Given the description of an element on the screen output the (x, y) to click on. 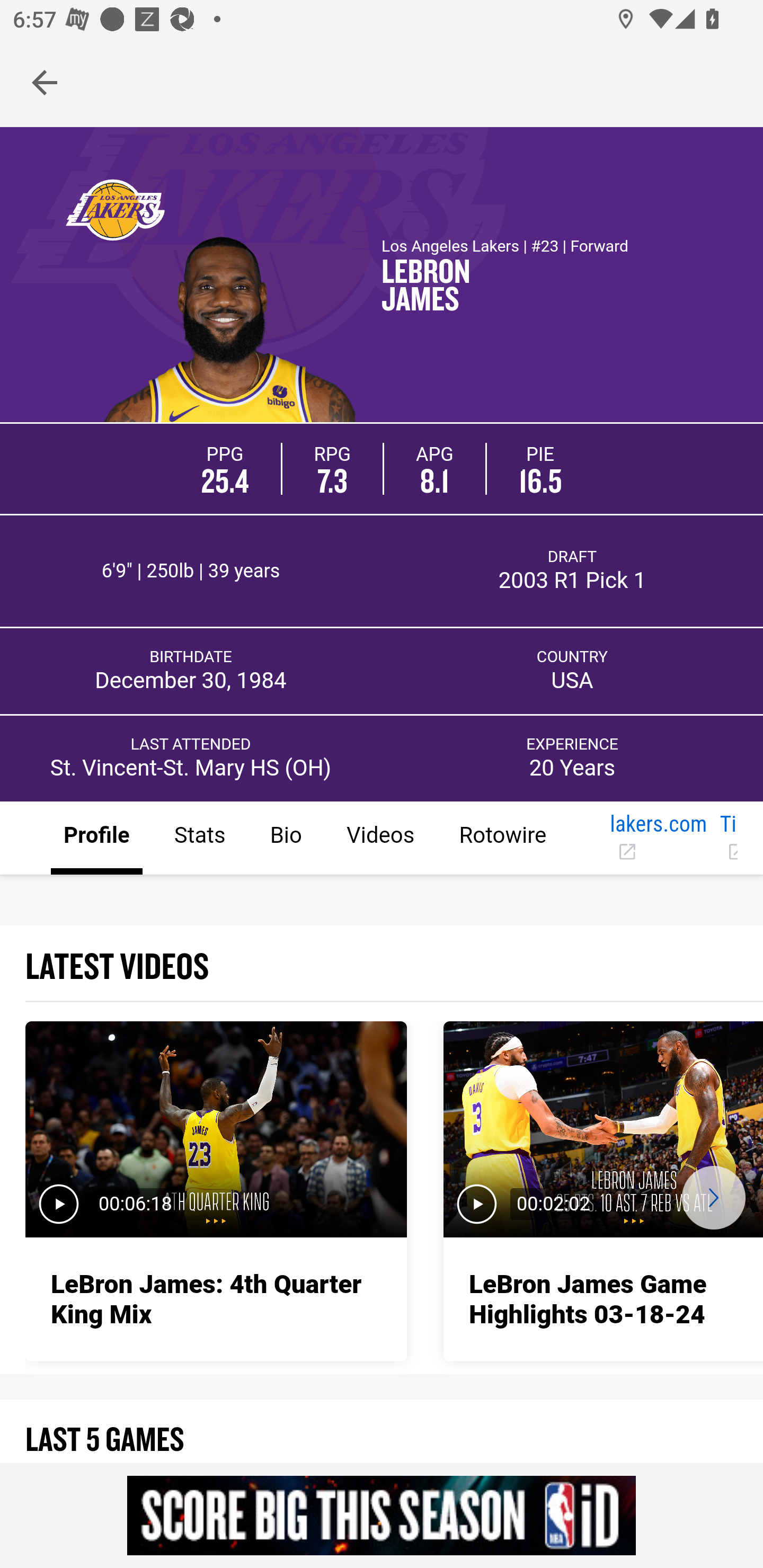
Navigate up (44, 82)
Los Angeles Lakers Logo (114, 209)
Profile (97, 838)
Stats (199, 838)
Bio (284, 838)
Videos (379, 838)
Rotowire (501, 838)
lakers.com (657, 838)
Carousel Button (713, 1197)
g5nqqygr7owph (381, 1515)
